Given the description of an element on the screen output the (x, y) to click on. 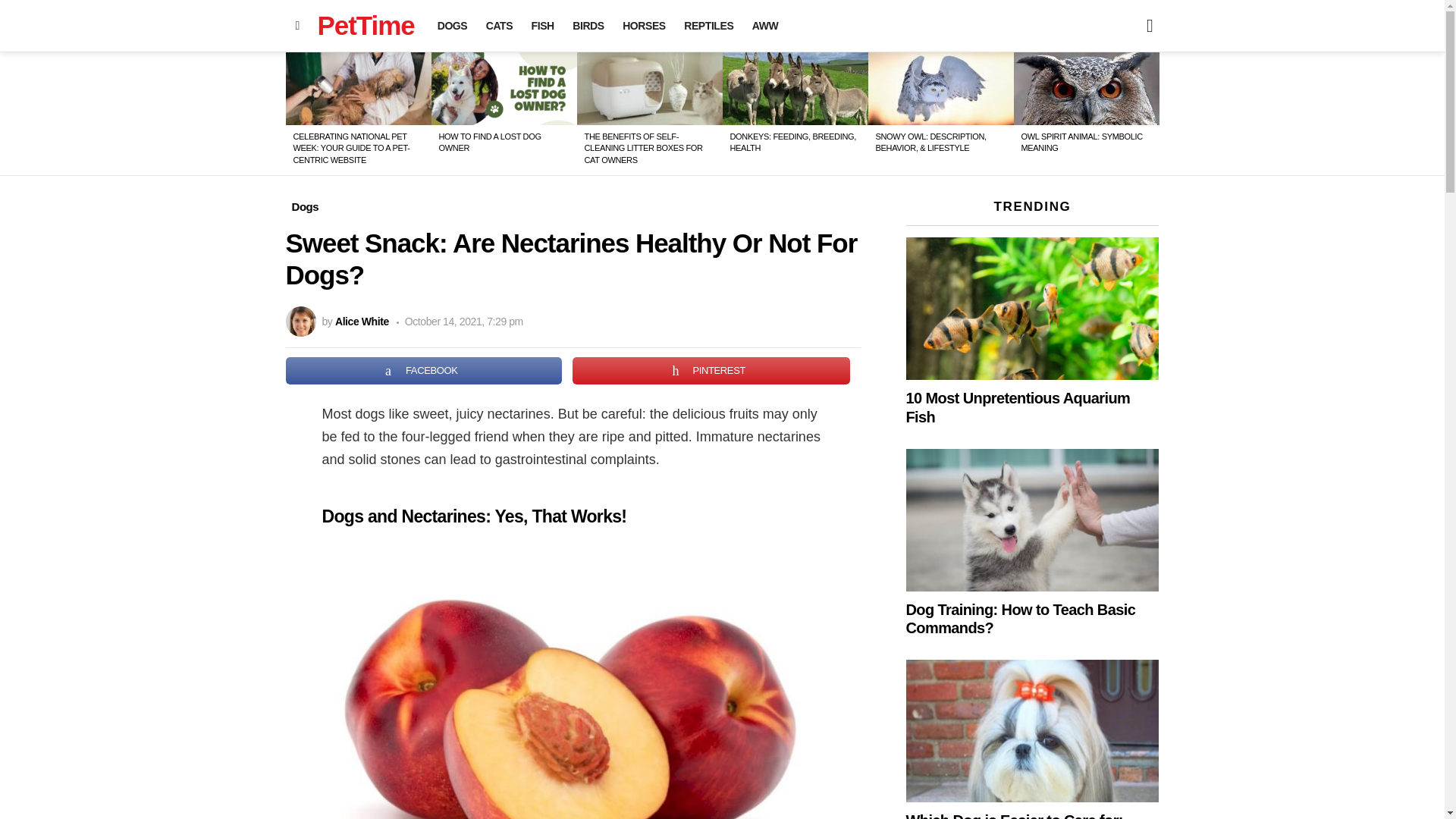
Menu (296, 25)
How to Find a Lost Dog Owner (503, 88)
DOGS (452, 25)
The Benefits of Self-Cleaning Litter Boxes for Cat Owners (649, 88)
Dogs (304, 207)
Donkeys: Feeding, Breeding, Health (794, 88)
HOW TO FIND A LOST DOG OWNER (489, 141)
Posts by Alice White (361, 321)
OWL SPIRIT ANIMAL: SYMBOLIC MEANING (1080, 141)
